Given the description of an element on the screen output the (x, y) to click on. 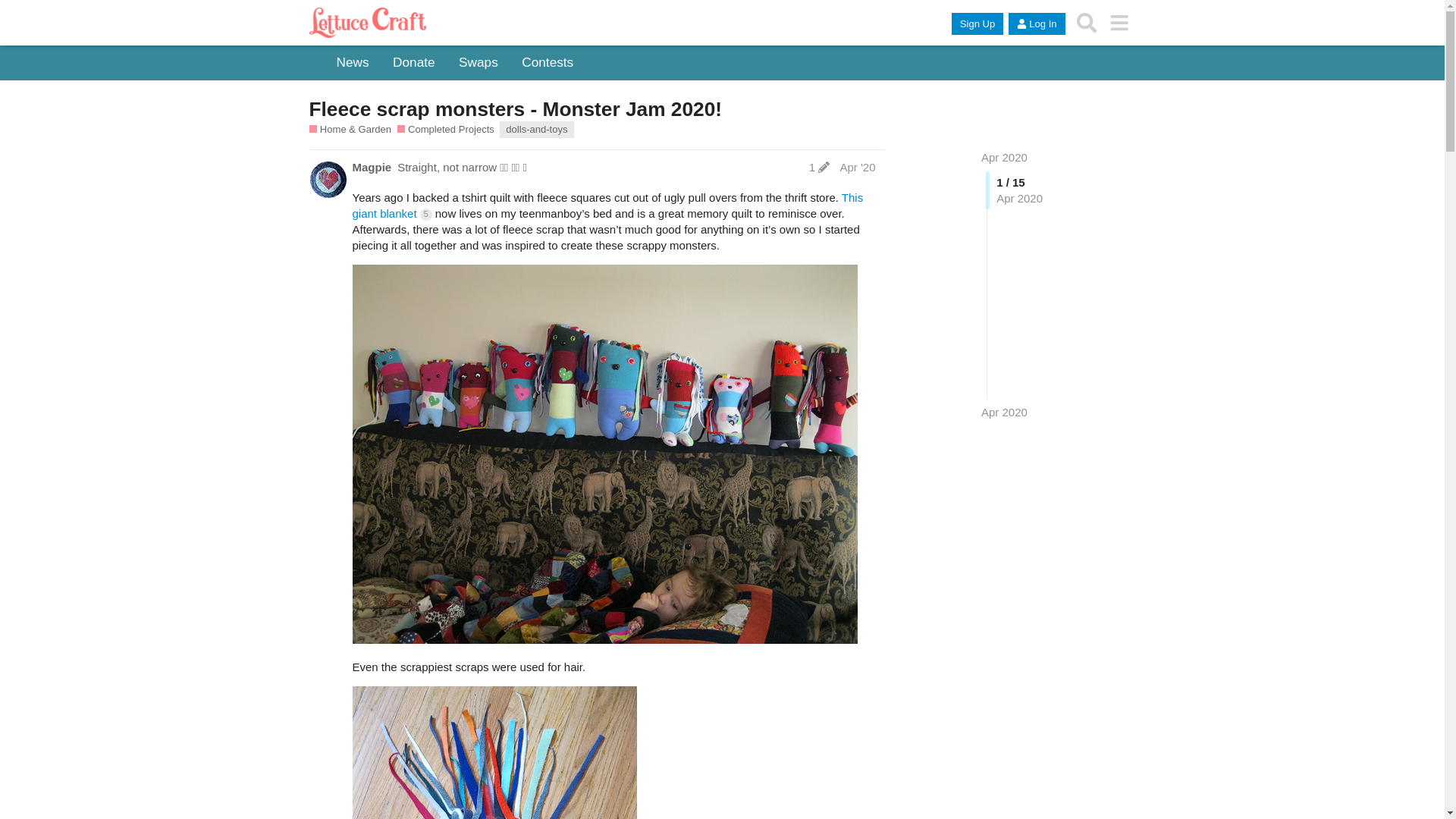
menu (1119, 22)
Apr 2020 (1004, 156)
News (352, 62)
Swaps (477, 62)
foundingmembers (341, 190)
Post date (857, 166)
Apr 20, 2020 11:49 pm (1004, 411)
dolls-and-toys (536, 129)
Donate (414, 62)
10 (494, 752)
Apr 2020 (1004, 156)
Log In (1036, 24)
Magpie (371, 166)
1 (819, 166)
Apr '20 (857, 166)
